Given the description of an element on the screen output the (x, y) to click on. 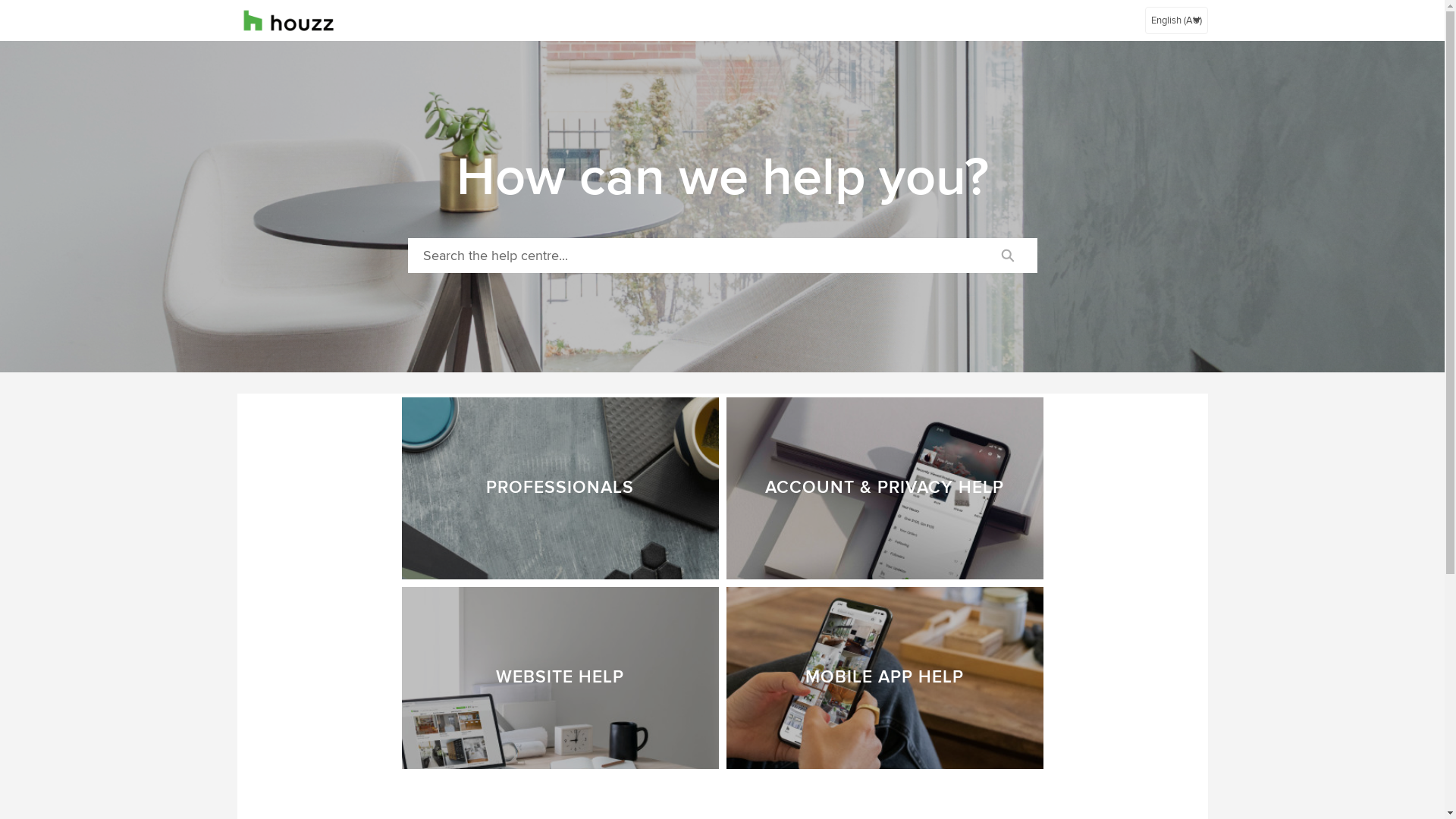
PROFESSIONALS Element type: text (559, 488)
Search Element type: text (1007, 255)
WEBSITE HELP Element type: text (559, 677)
Skip to Main Content Element type: text (9, 4)
Houzz Support Element type: text (287, 20)
MOBILE APP HELP Element type: text (884, 677)
ACCOUNT & PRIVACY HELP Element type: text (884, 488)
English (AU) Element type: text (1176, 20)
